Given the description of an element on the screen output the (x, y) to click on. 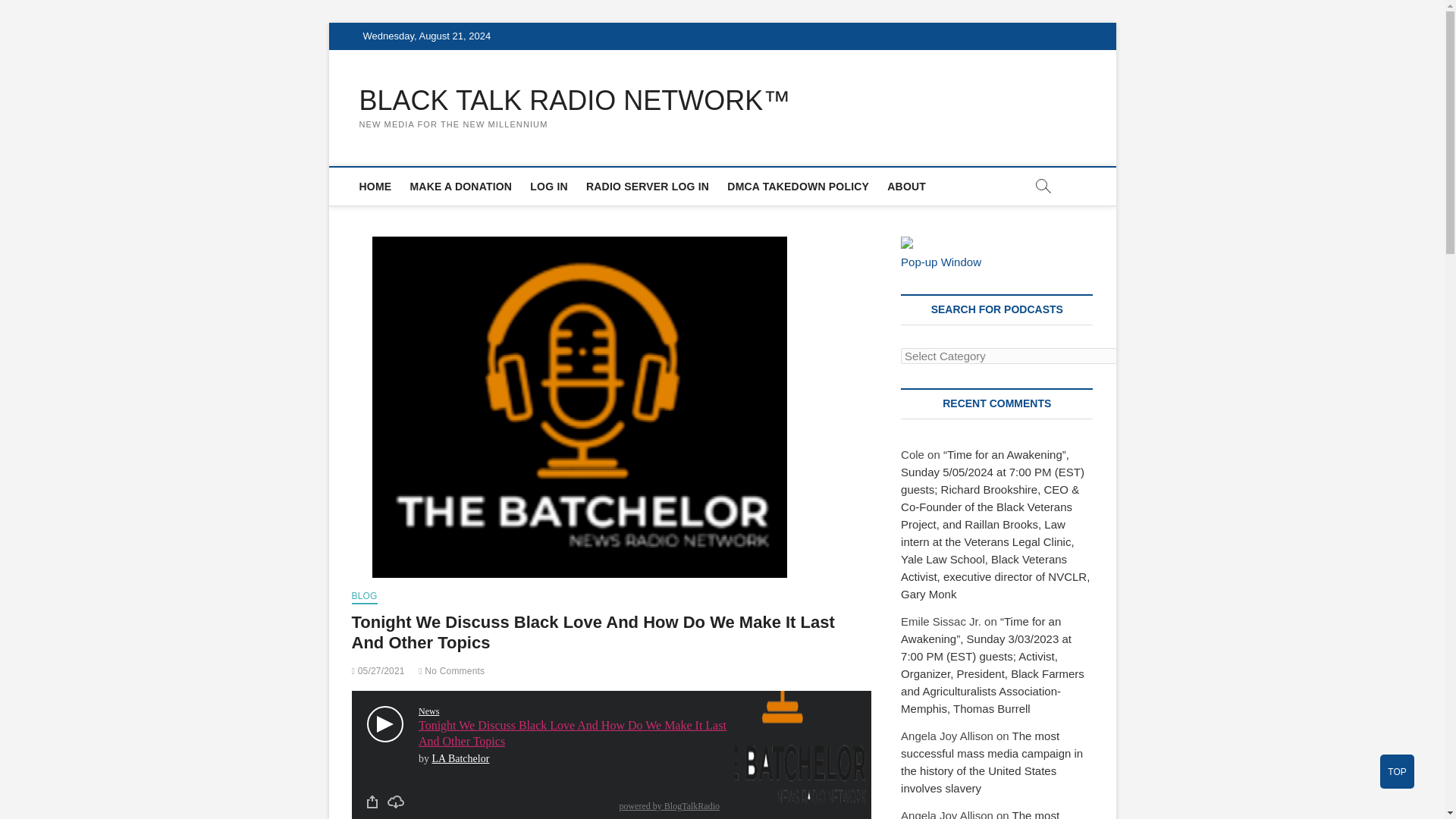
RADIO SERVER LOG IN (647, 186)
Log In And Manage Your Digital Station (647, 186)
MAKE A DONATION (460, 186)
LOG IN (548, 186)
HOME (375, 186)
ABOUT (906, 186)
DMCA TAKEDOWN POLICY (797, 186)
